Given the description of an element on the screen output the (x, y) to click on. 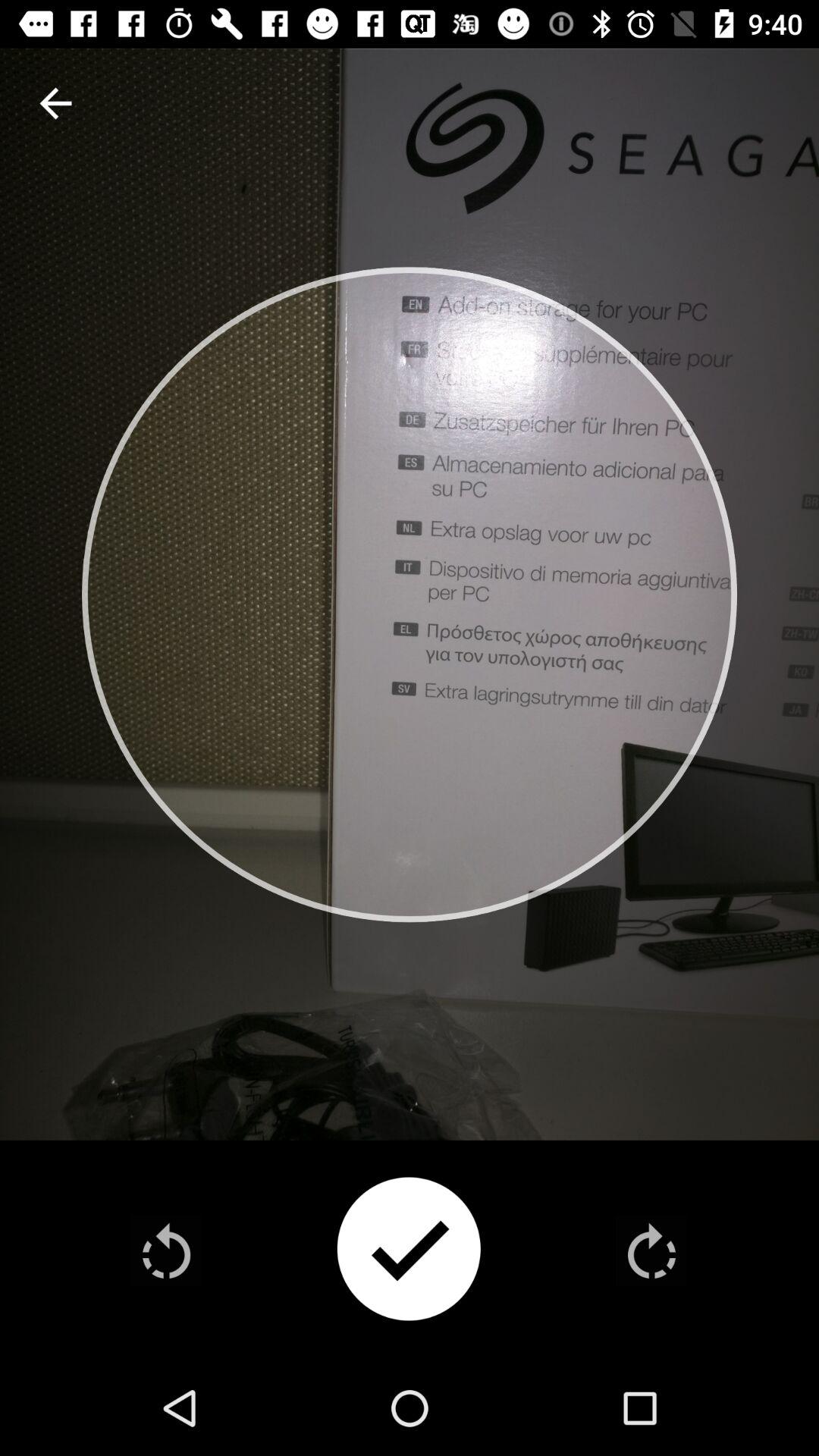
turn on icon at the top left corner (55, 103)
